Given the description of an element on the screen output the (x, y) to click on. 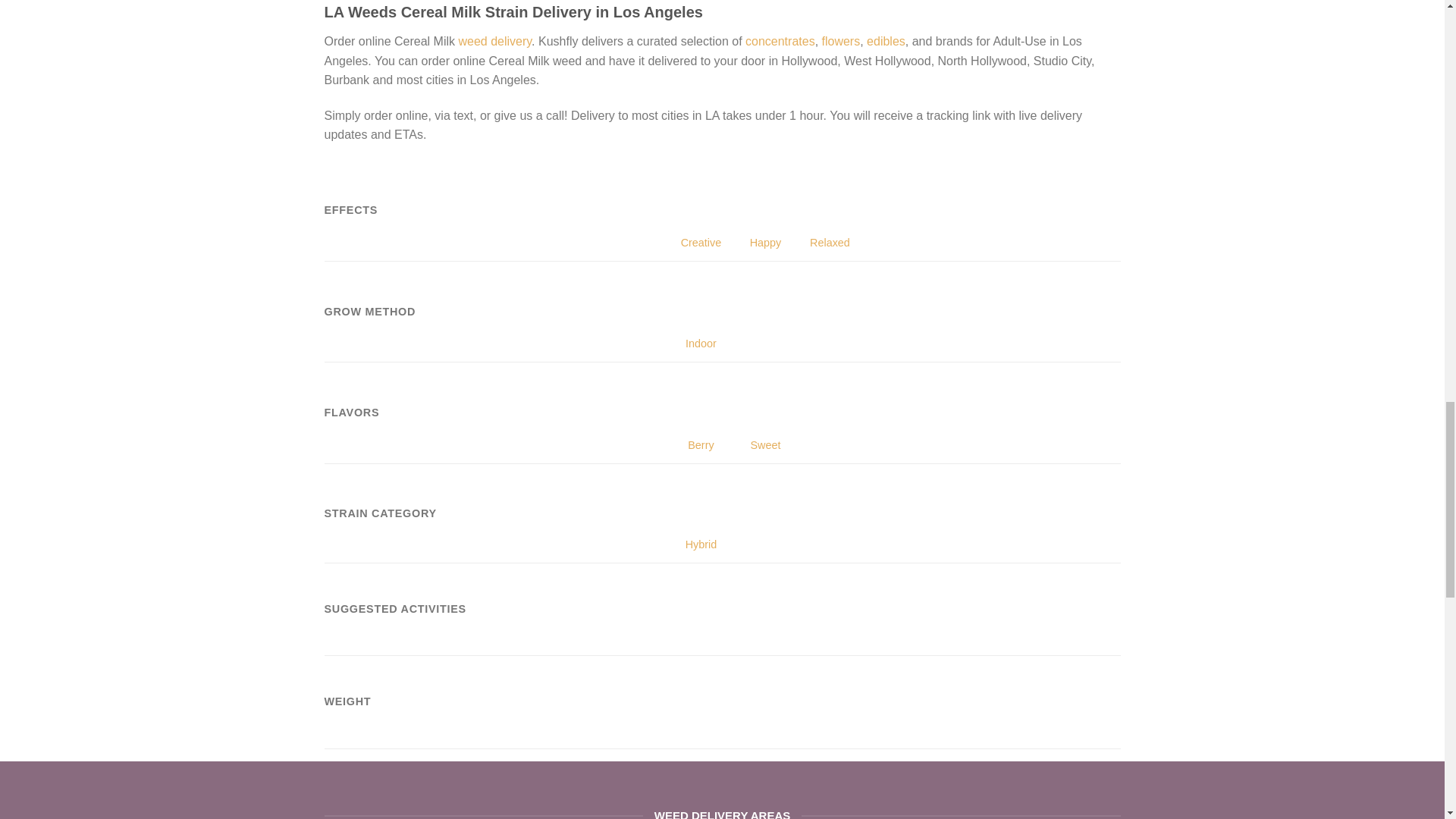
Creative (698, 199)
Happy (763, 199)
Relaxed (828, 199)
Indoor (698, 301)
Home (494, 41)
